Given the description of an element on the screen output the (x, y) to click on. 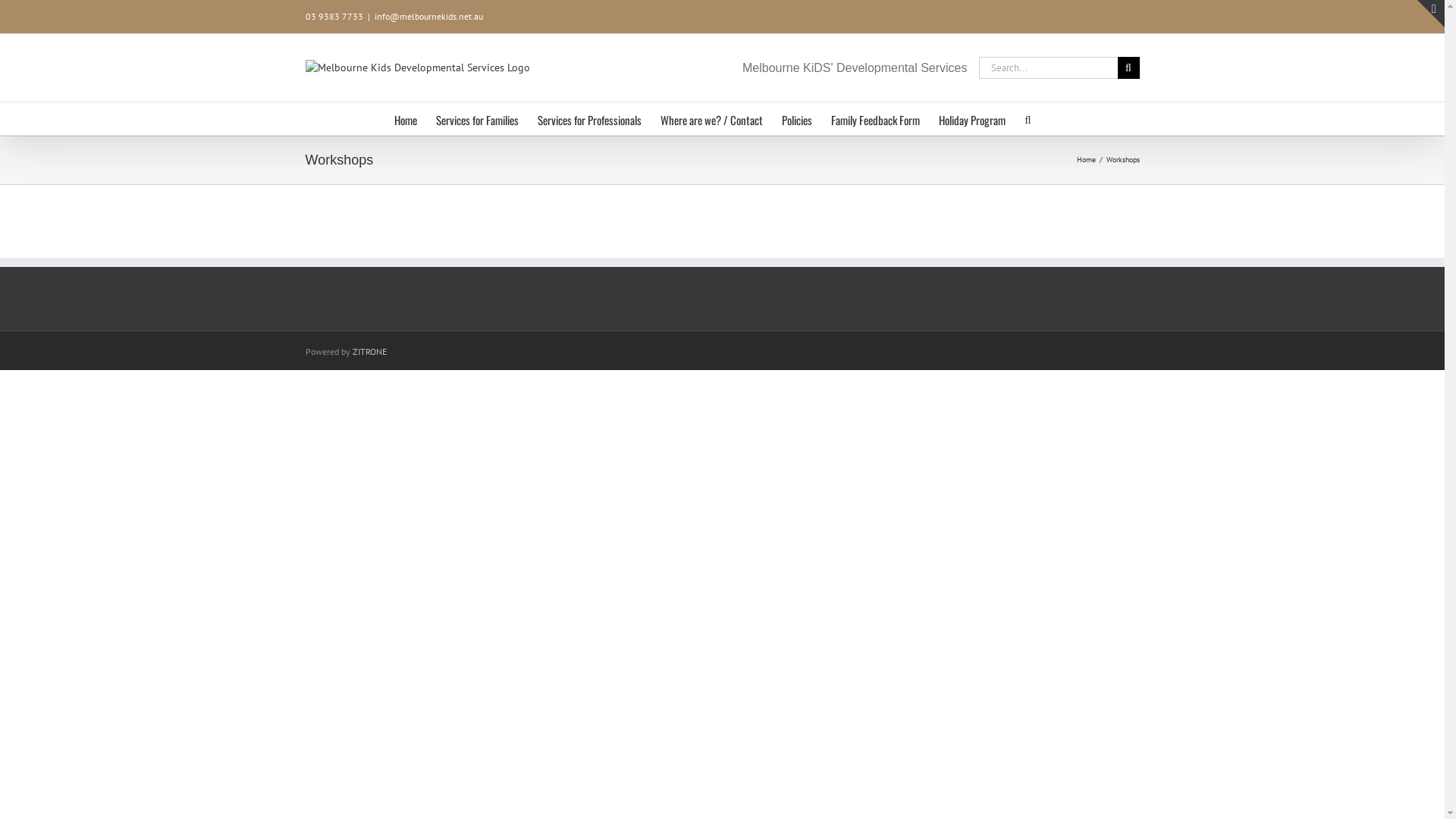
Home Element type: text (1085, 159)
Family Feedback Form Element type: text (875, 118)
Where are we? / Contact Element type: text (711, 118)
Home Element type: text (405, 118)
Search Element type: hover (1027, 118)
Toggle Sliding Bar Area Element type: text (1430, 13)
Holiday Program Element type: text (971, 118)
Services for Professionals Element type: text (589, 118)
Services for Families Element type: text (477, 118)
ZITRONE Element type: text (368, 351)
Policies Element type: text (796, 118)
info@melbournekids.net.au Element type: text (428, 15)
